Given the description of an element on the screen output the (x, y) to click on. 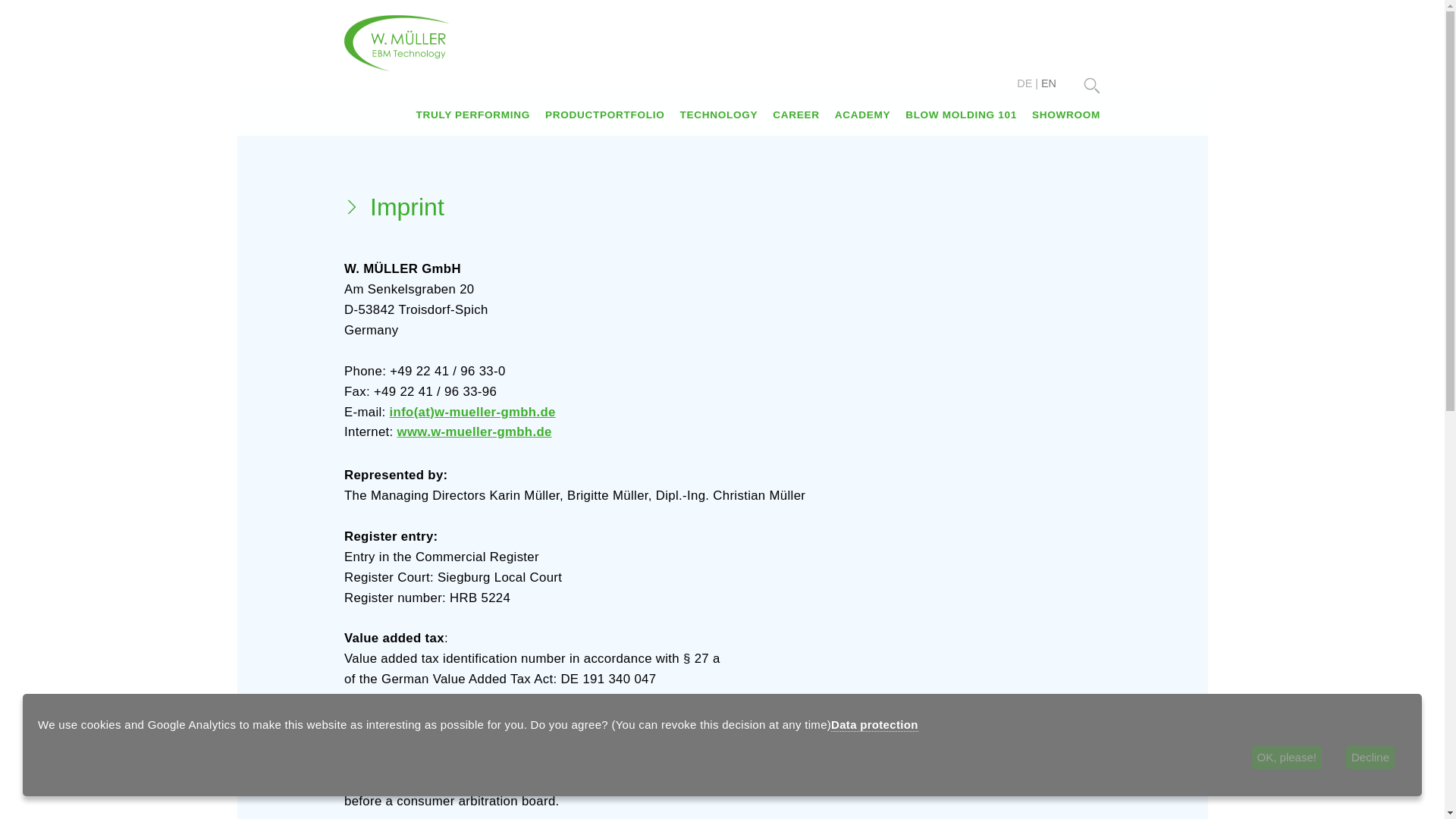
TRULY PERFORMING (471, 114)
CAREER (795, 114)
English (1049, 82)
Suche (1091, 85)
EN (1049, 82)
PRODUCTPORTFOLIO (603, 114)
TECHNOLOGY (718, 114)
DE (1024, 82)
German (1024, 82)
Home (397, 43)
